Given the description of an element on the screen output the (x, y) to click on. 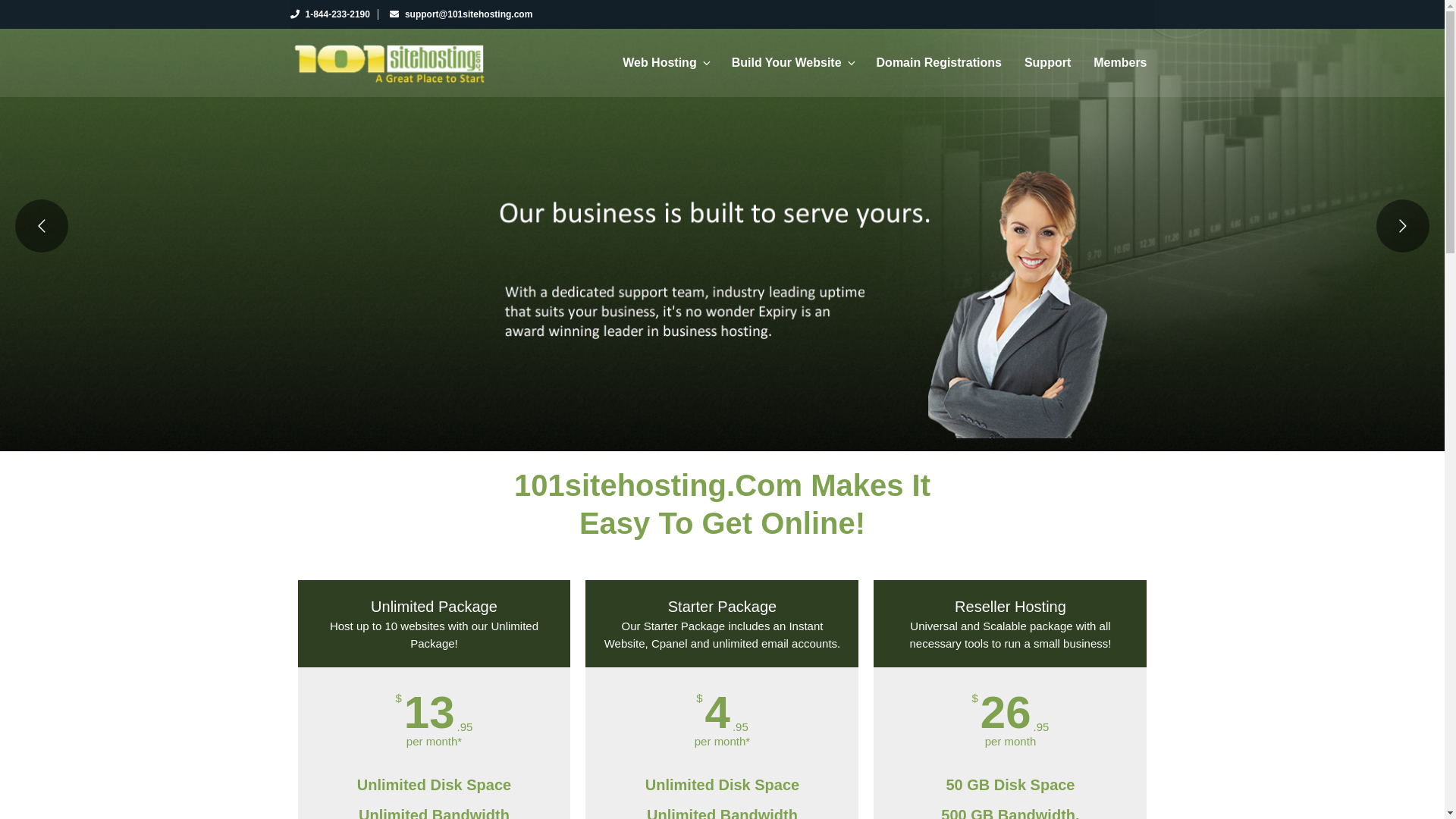
Domain Registrations Element type: text (938, 62)
Support Element type: text (1047, 62)
Web Hosting Element type: text (665, 62)
Members Element type: text (1119, 62)
1-844-233-2190 Element type: text (329, 14)
support@101sitehosting.com Element type: text (460, 14)
Build Your Website Element type: text (792, 62)
